Given the description of an element on the screen output the (x, y) to click on. 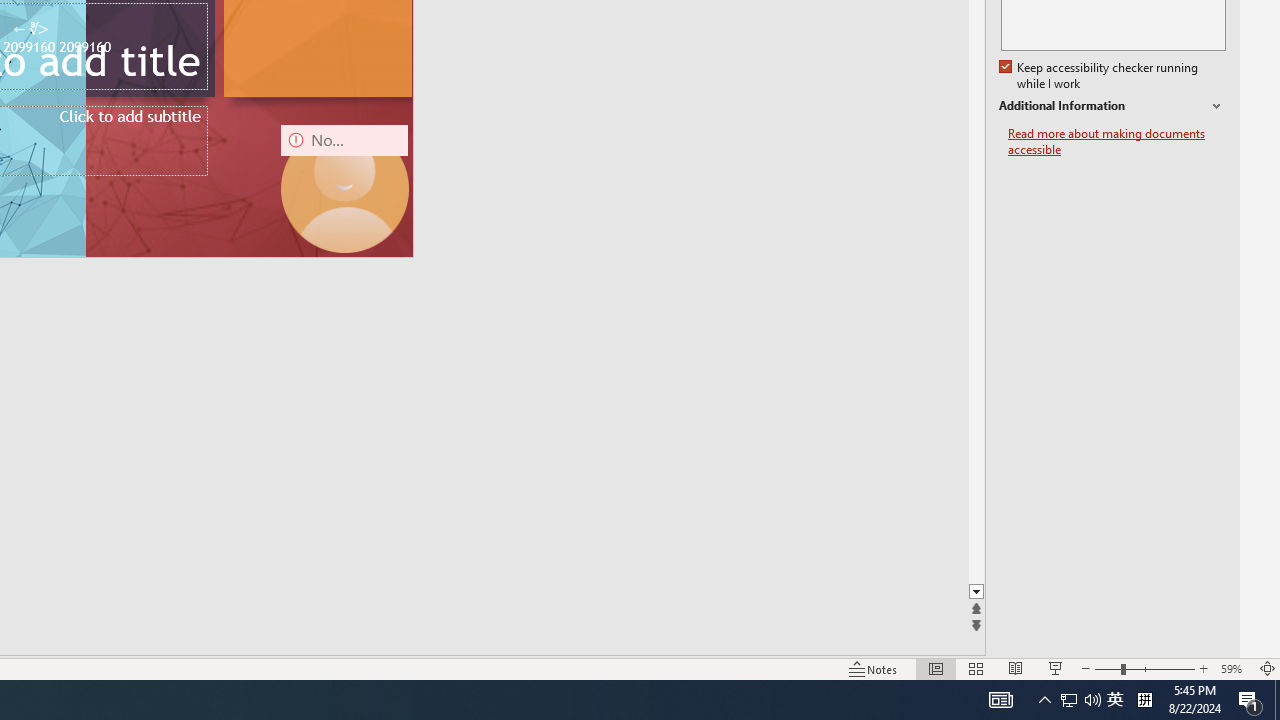
TextBox 7 (30, 30)
Camera 16, No camera detected. (344, 188)
Zoom 59% (1234, 668)
